Given the description of an element on the screen output the (x, y) to click on. 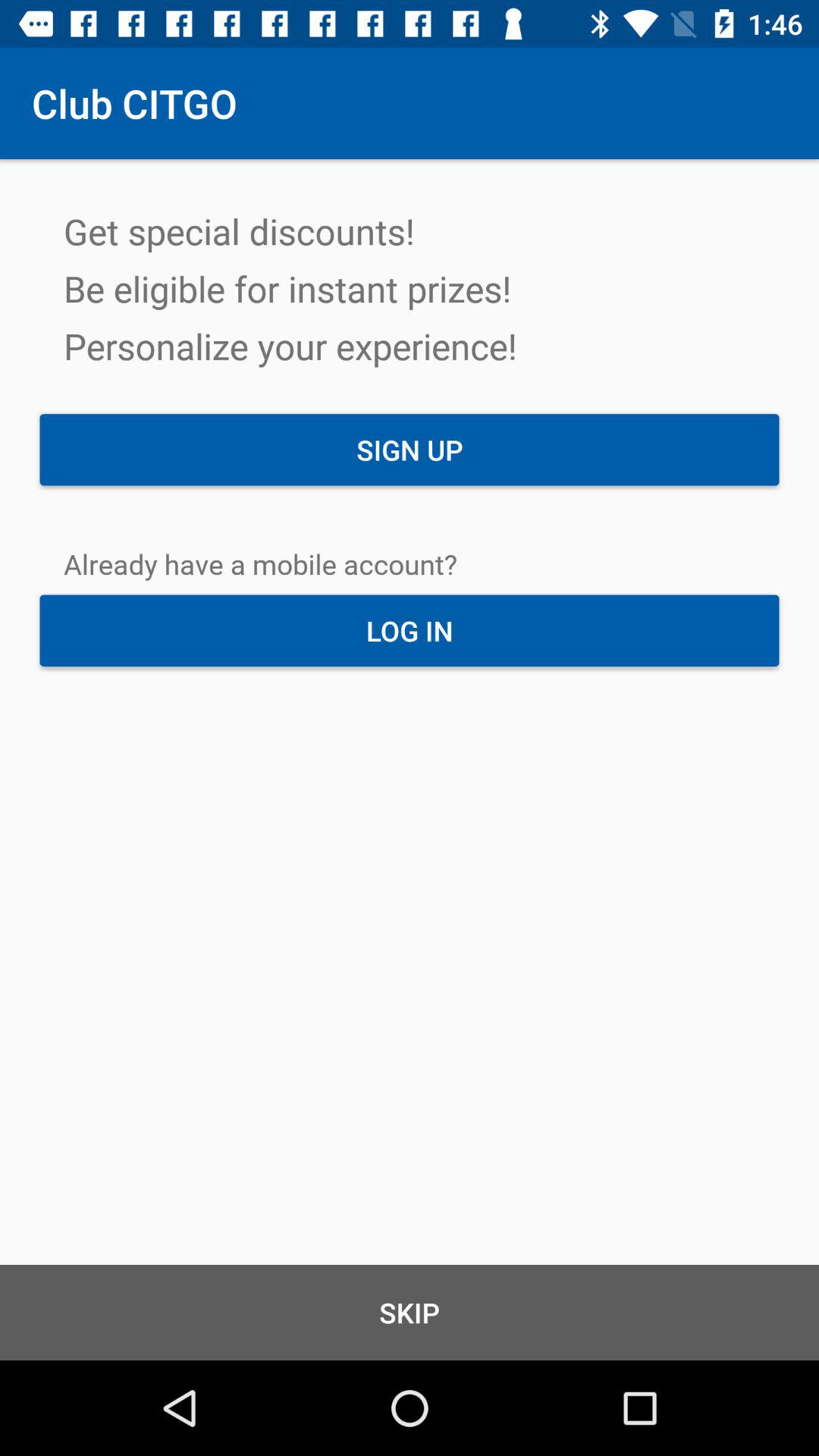
jump until the skip (409, 1312)
